Given the description of an element on the screen output the (x, y) to click on. 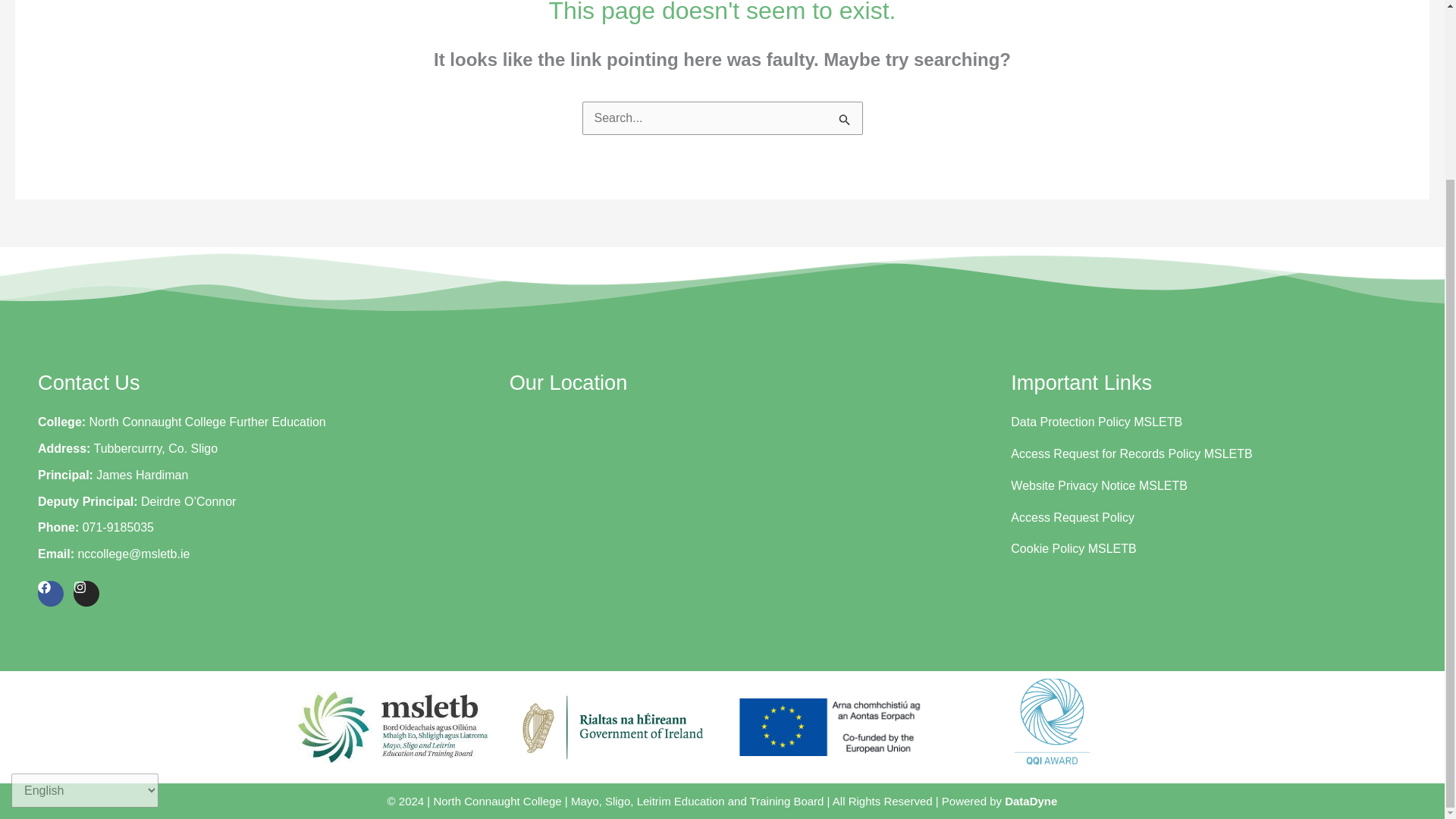
North Connaught College (737, 518)
